Given the description of an element on the screen output the (x, y) to click on. 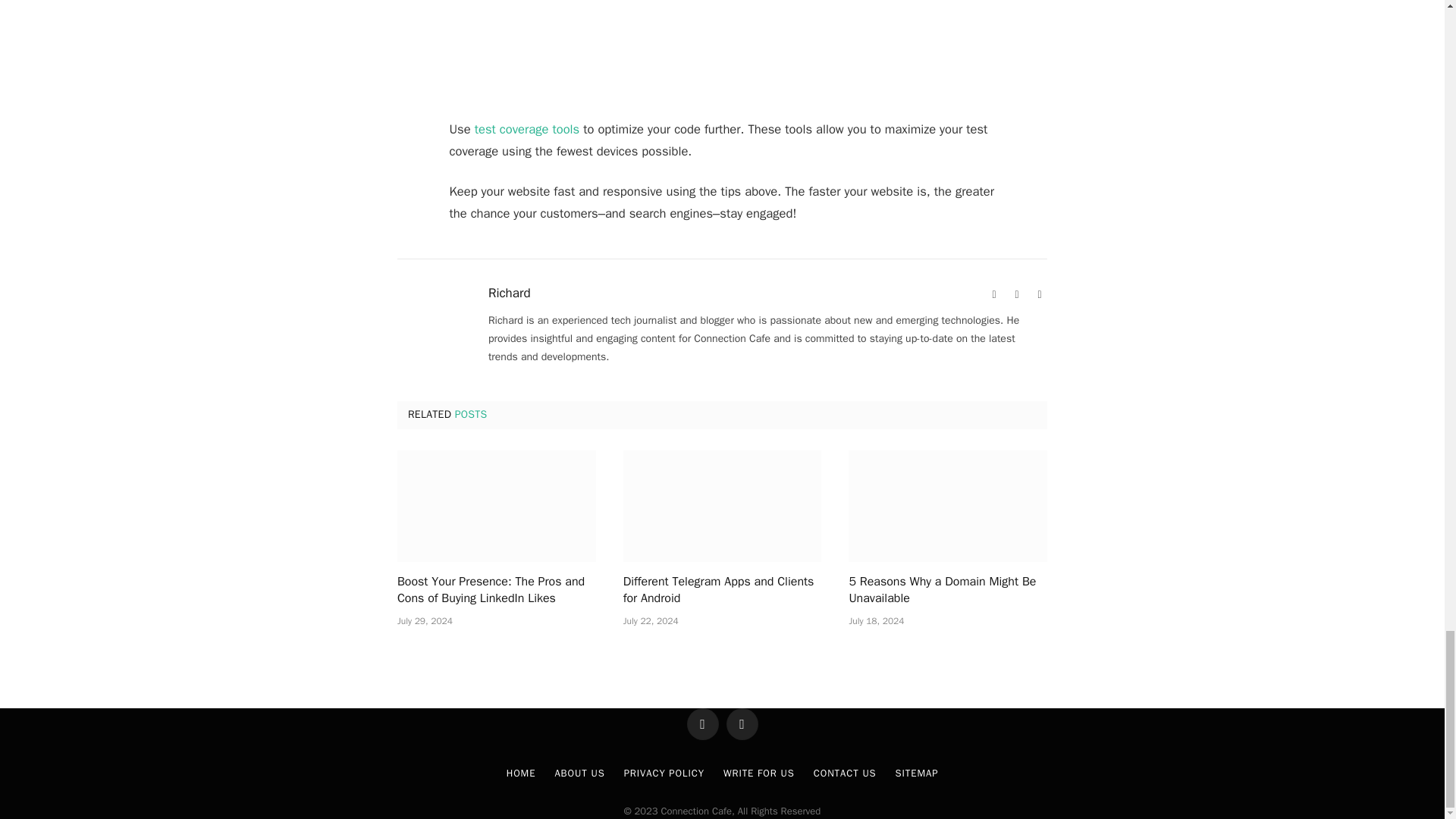
Different Telegram Apps and Clients for Android (722, 505)
5 Reasons Why a Domain Might Be Unavailable (947, 505)
Website (994, 294)
Facebook (1017, 294)
Posts by Richard (509, 293)
Twitter (1039, 294)
